Given the description of an element on the screen output the (x, y) to click on. 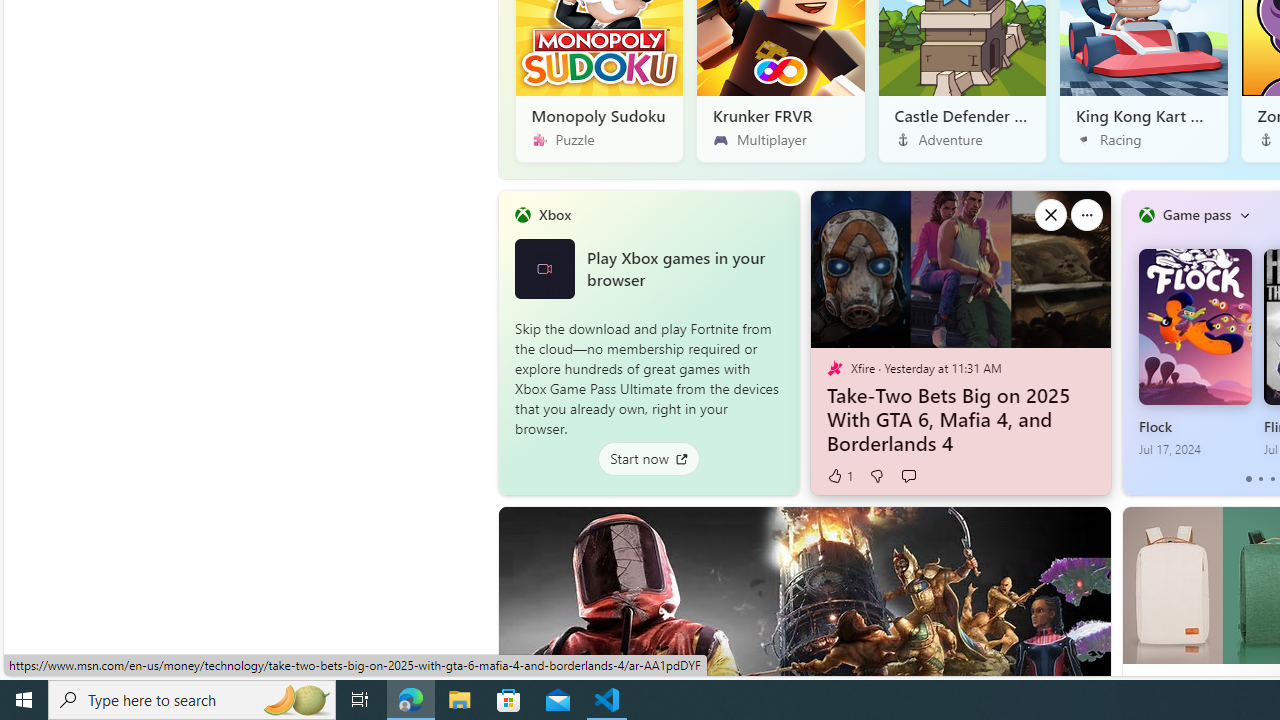
See more (1086, 530)
Dislike (876, 475)
To get missing image descriptions, open the context menu. (1145, 215)
Start now (647, 458)
Game pass (1196, 214)
Flock Jul 17, 2024 (1194, 353)
Xfire (834, 367)
tab-2 (1271, 479)
Class: icon-img (1243, 214)
Xbox Logo (544, 268)
Start the conversation (908, 475)
Xbox (553, 214)
tab-0 (1247, 479)
Start the conversation (907, 475)
